Given the description of an element on the screen output the (x, y) to click on. 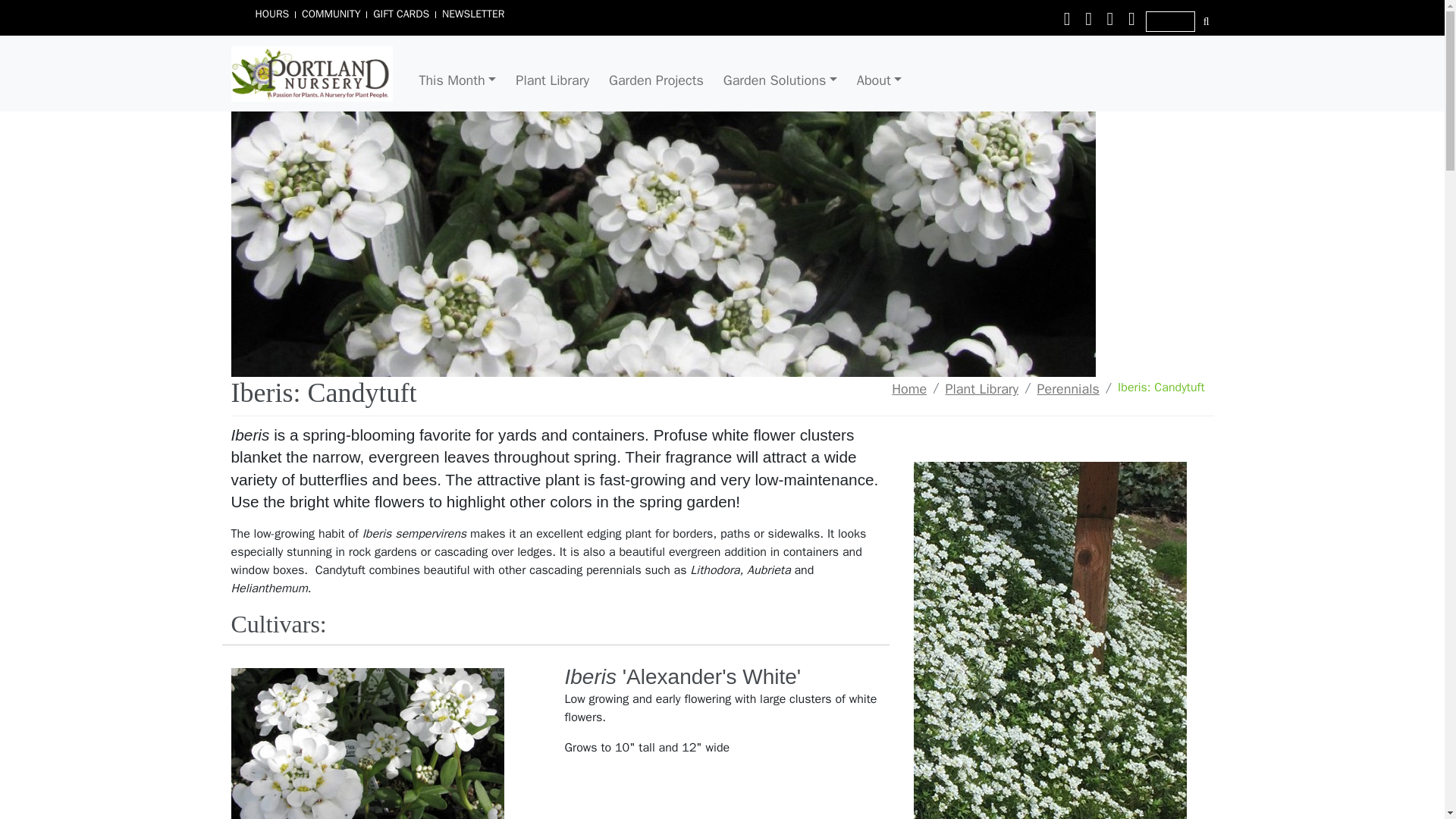
This Month (457, 80)
NEWSLETTER (473, 13)
HOURS (271, 13)
Home (908, 388)
COMMUNITY (331, 13)
GIFT CARDS (400, 13)
Garden Solutions (780, 80)
Plant Library (980, 388)
About (879, 80)
Perennials (1067, 388)
Plant Library (552, 80)
Garden Projects (656, 80)
